Given the description of an element on the screen output the (x, y) to click on. 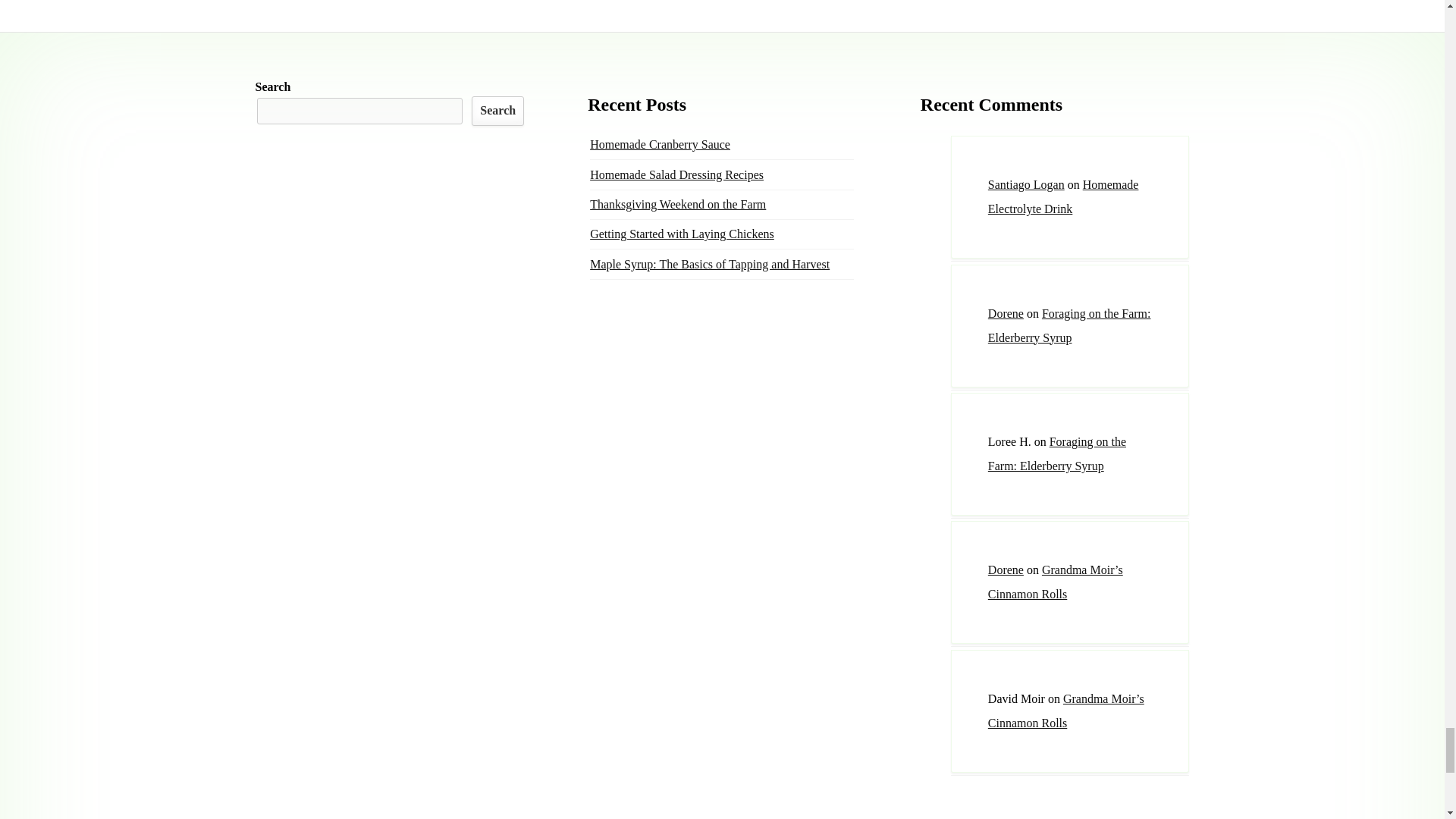
Foraging on the Farm: Elderberry Syrup (1056, 453)
Search (497, 111)
Dorene (1005, 313)
Foraging on the Farm: Elderberry Syrup (1069, 325)
Homemade Salad Dressing Recipes (675, 174)
Thanksgiving Weekend on the Farm (677, 204)
Maple Syrup: The Basics of Tapping and Harvest (709, 264)
Homemade Cranberry Sauce (659, 144)
Getting Started with Laying Chickens (681, 233)
Dorene (1005, 569)
Homemade Electrolyte Drink (1063, 196)
Santiago Logan (1026, 184)
